Given the description of an element on the screen output the (x, y) to click on. 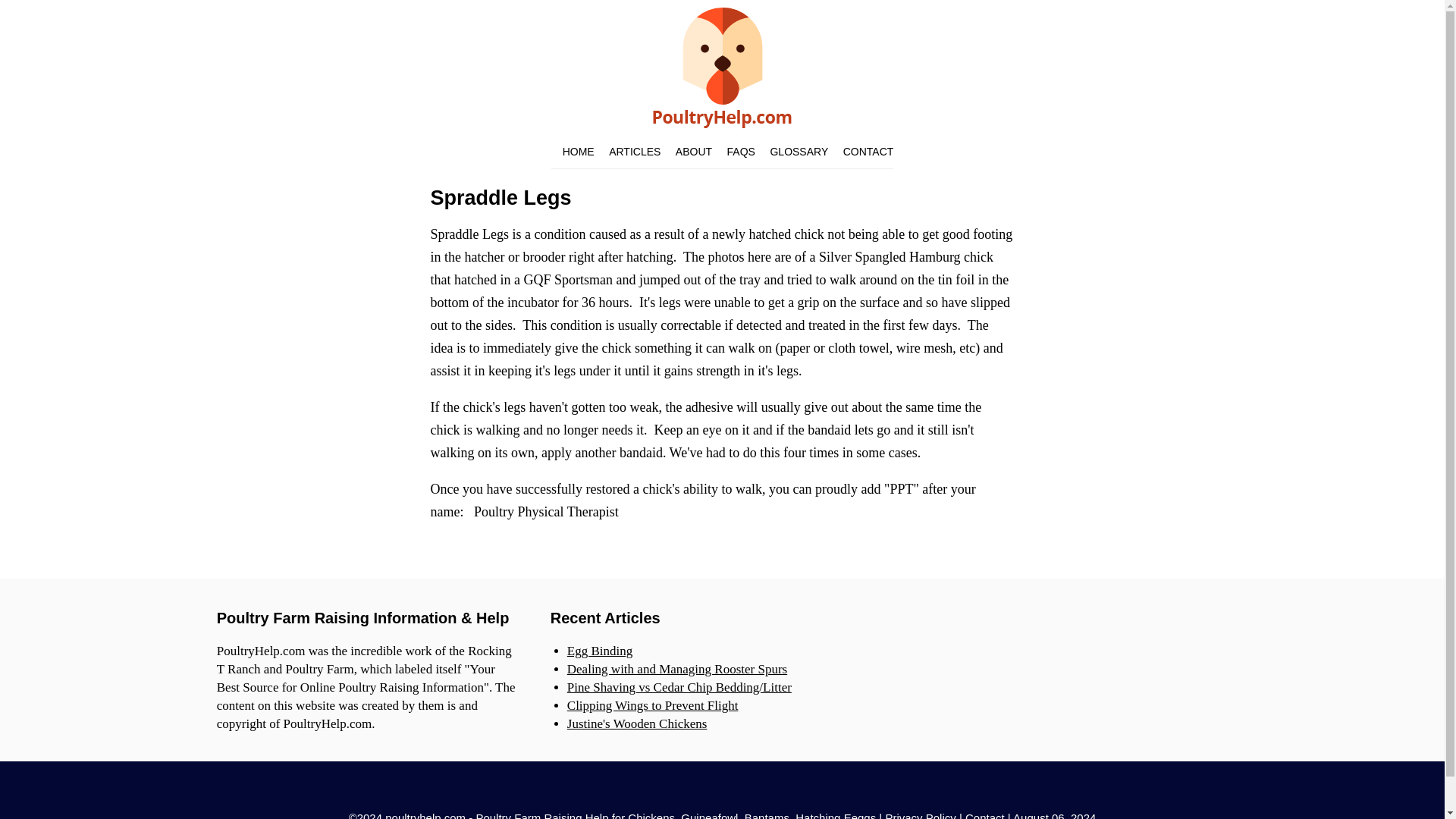
Dealing with and Managing Rooster Spurs (677, 668)
Egg Binding (599, 650)
Contact (984, 815)
ABOUT (693, 151)
ARTICLES (634, 151)
Privacy Policy (920, 815)
CONTACT (868, 151)
Clipping Wings to Prevent Flight (652, 705)
HOME (578, 151)
Justine's Wooden Chickens (637, 723)
